Given the description of an element on the screen output the (x, y) to click on. 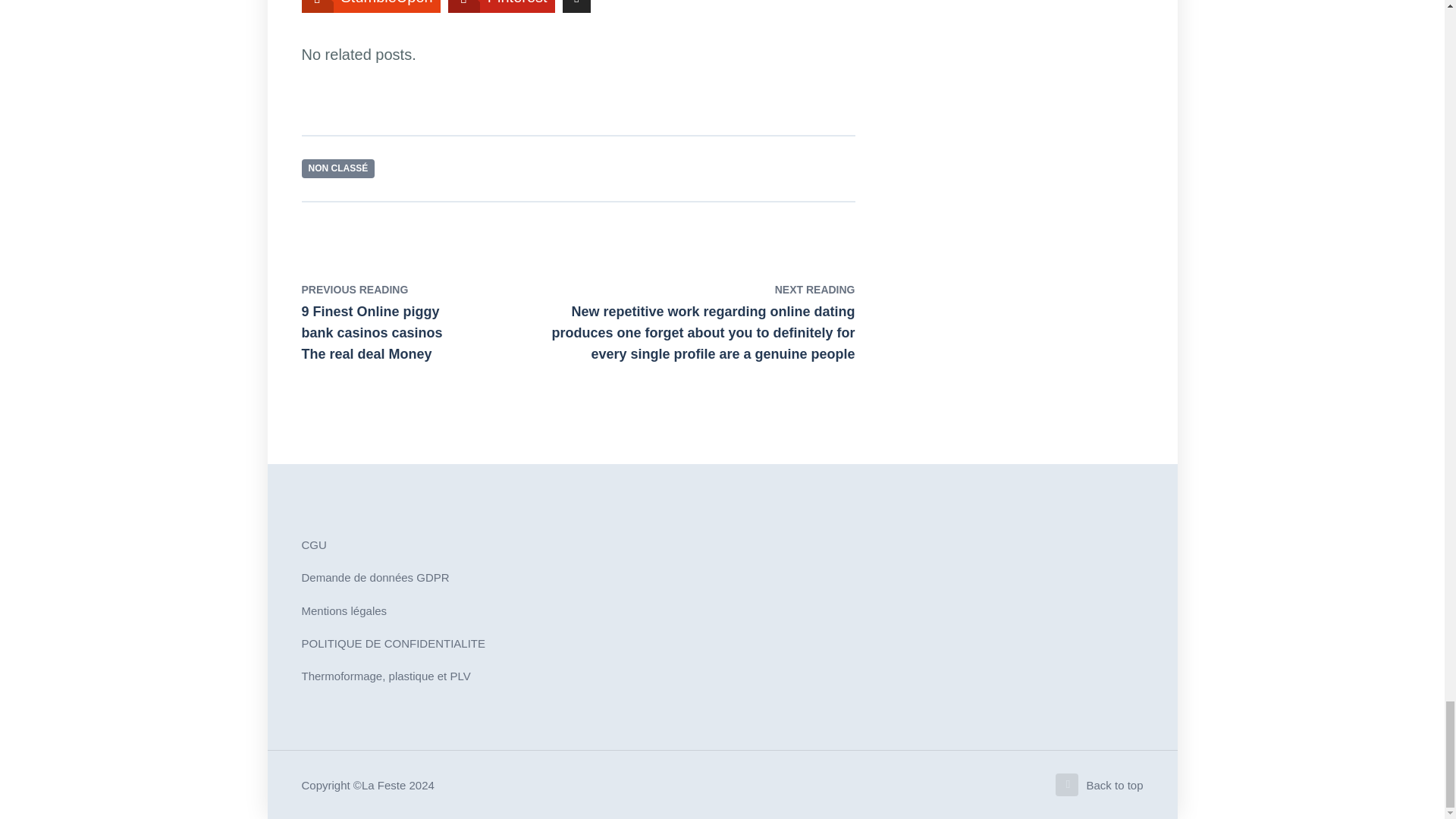
Pinterest (501, 6)
StumbleUpon (371, 6)
